Given the description of an element on the screen output the (x, y) to click on. 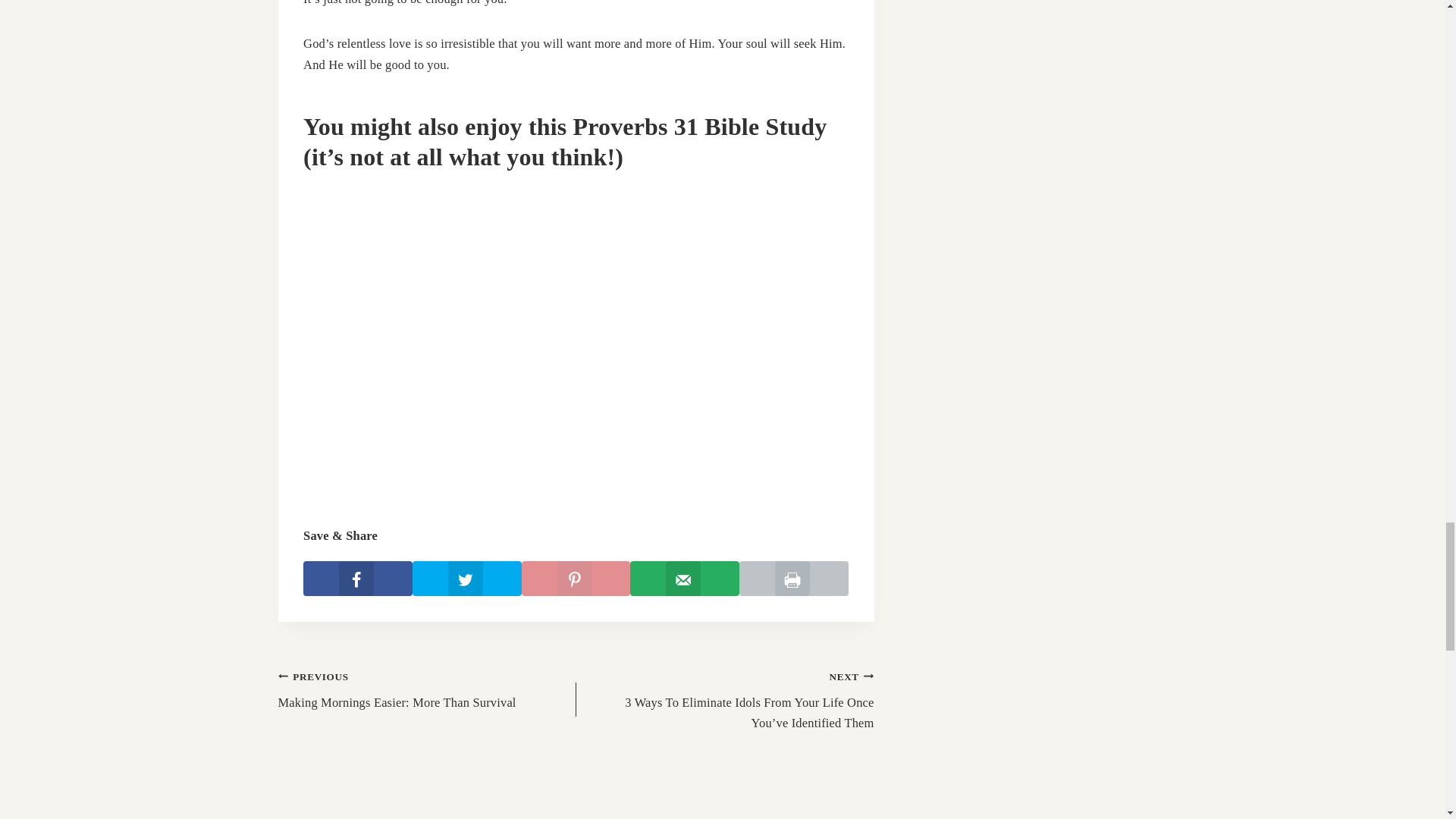
Share on Twitter (426, 689)
Share on Facebook (466, 578)
Print this webpage (357, 578)
Save to Pinterest (793, 578)
Send over email (575, 578)
